Given the description of an element on the screen output the (x, y) to click on. 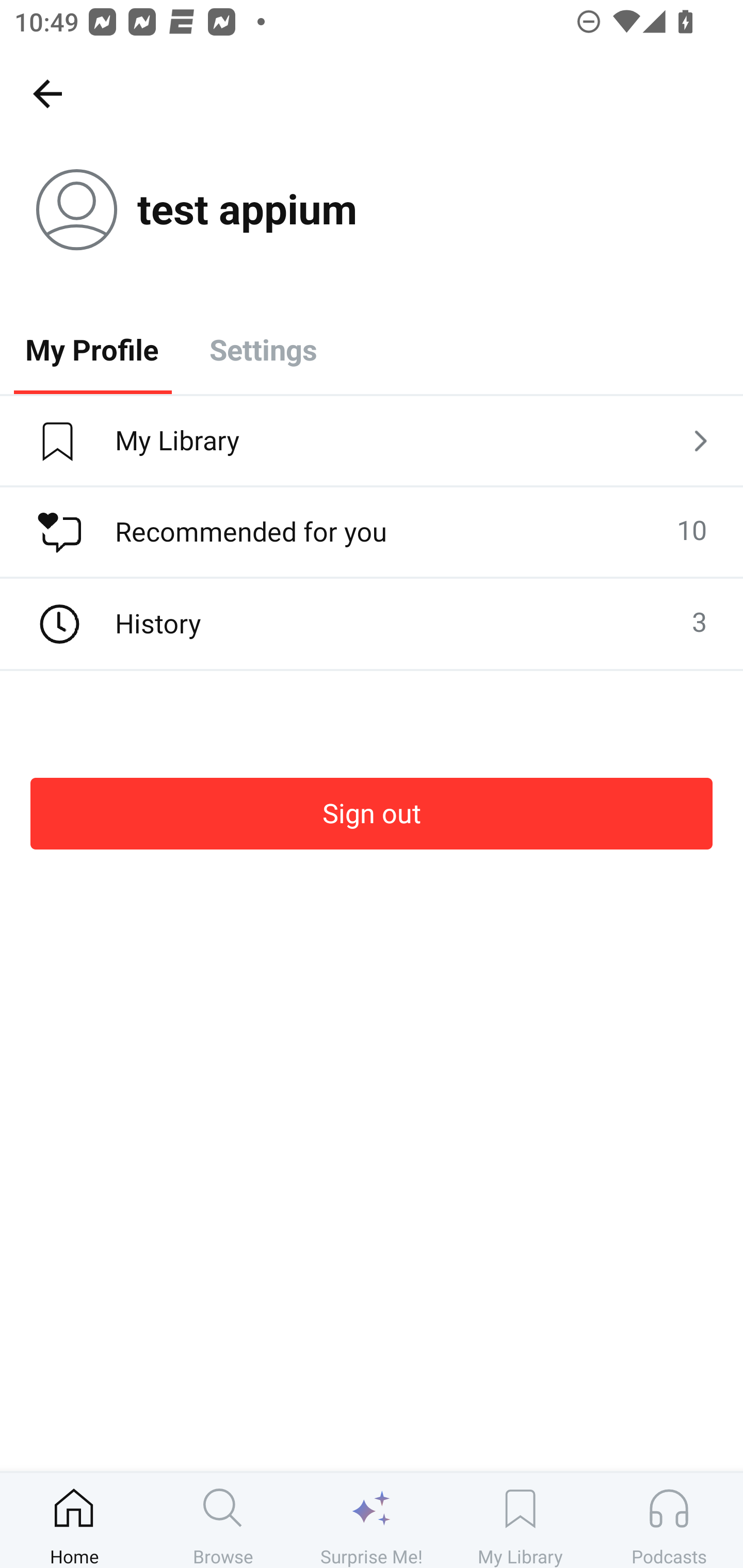
Home, back (47, 92)
My Profile (92, 348)
Settings (263, 348)
My Library (371, 441)
Recommended for you 10 (371, 532)
History 3 (371, 623)
Sign out (371, 813)
Home (74, 1520)
Browse (222, 1520)
Surprise Me! (371, 1520)
My Library (519, 1520)
Podcasts (668, 1520)
